Given the description of an element on the screen output the (x, y) to click on. 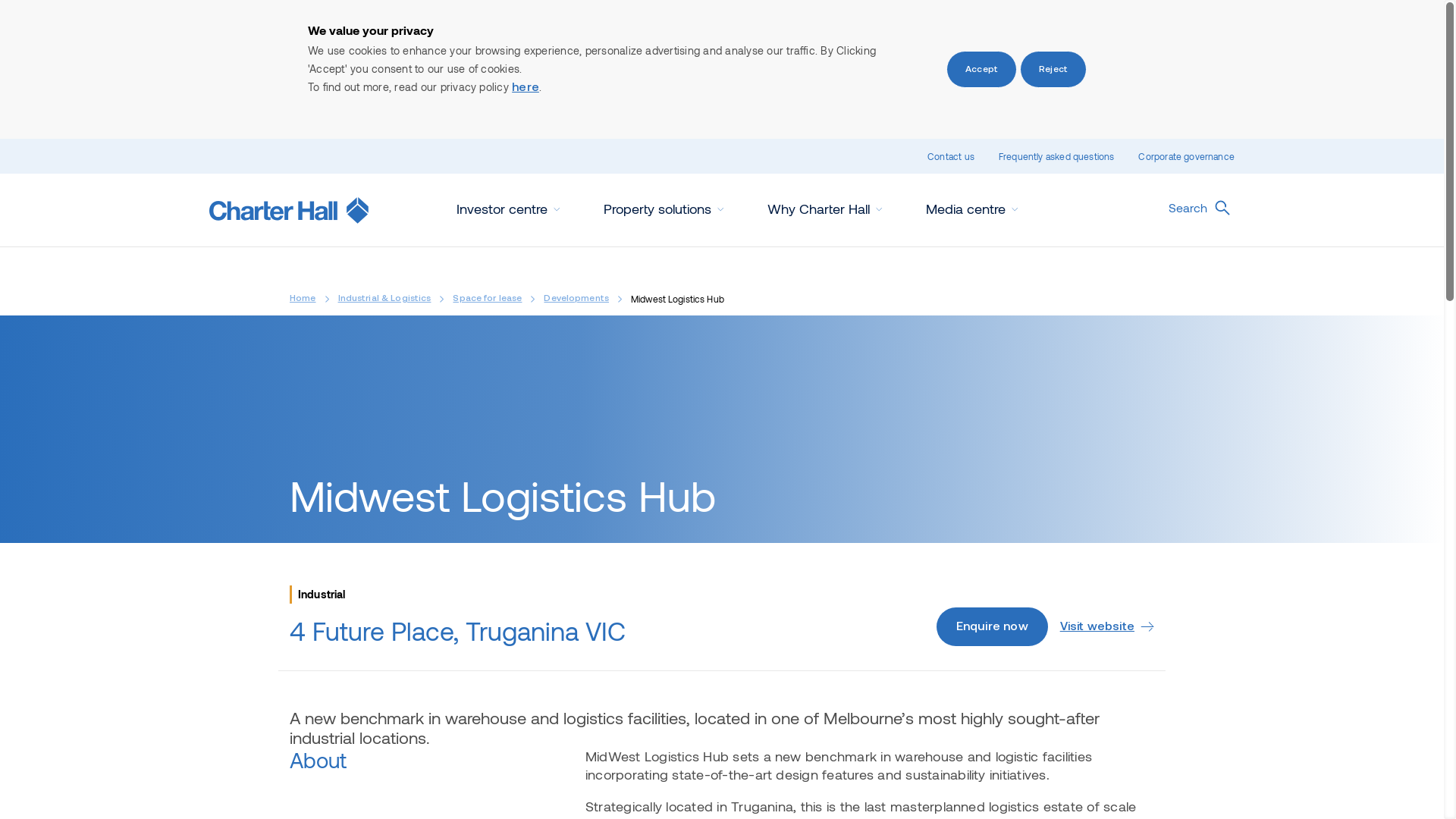
Space for lease Element type: text (486, 298)
Home Element type: text (302, 298)
Frequently asked questions Element type: text (1056, 155)
Industrial & Logistics Element type: text (384, 298)
Visit website Element type: text (1107, 626)
Developments Element type: text (575, 298)
here Element type: text (525, 87)
Accept Element type: text (981, 68)
Reject Element type: text (1052, 68)
Contact us Element type: text (950, 155)
Corporate governance Element type: text (1186, 155)
Enquire now Element type: text (992, 626)
